Given the description of an element on the screen output the (x, y) to click on. 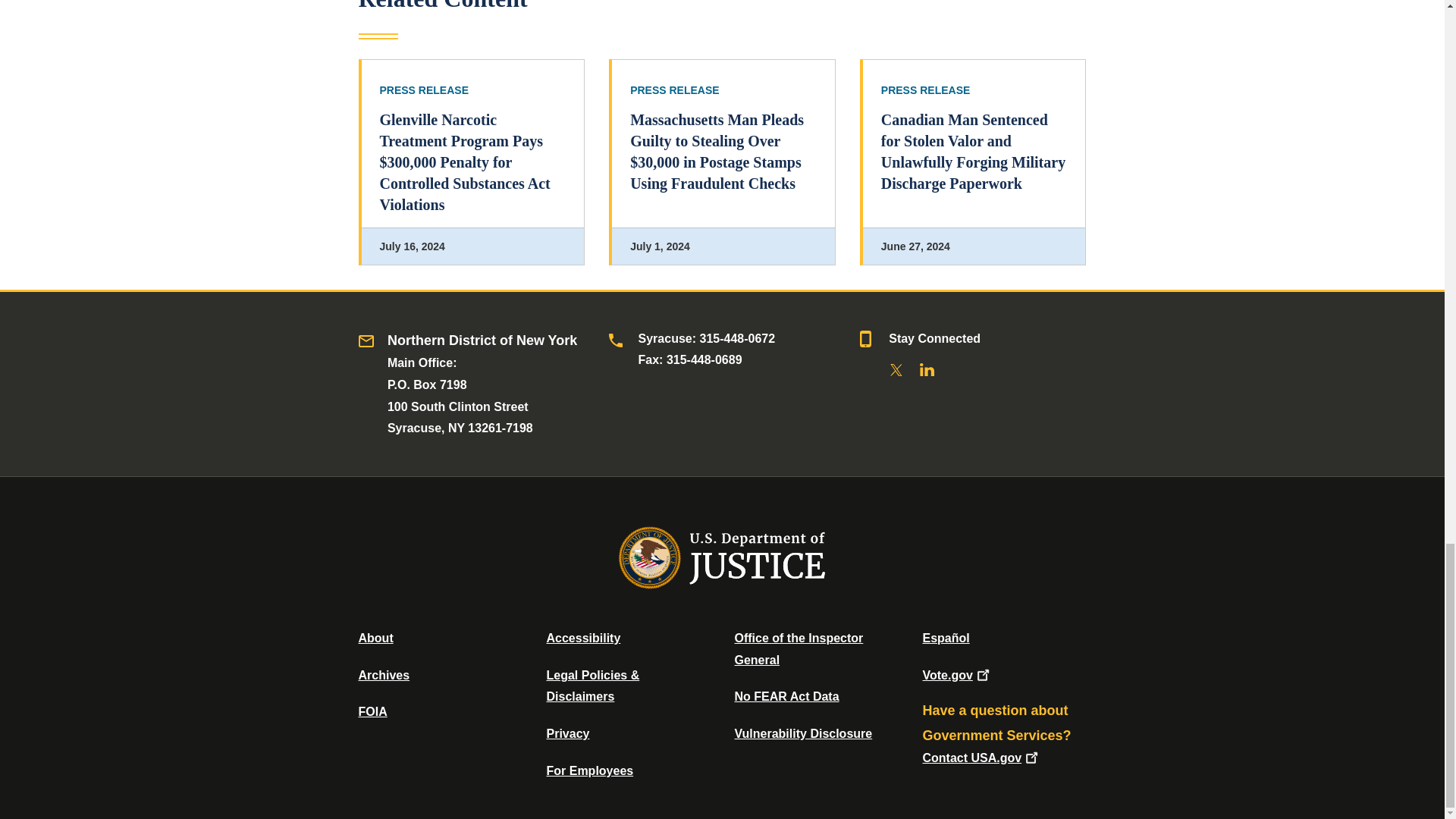
Accessibility Statement (583, 637)
Legal Policies and Disclaimers (592, 686)
Office of Information Policy (372, 711)
For Employees (589, 770)
About DOJ (375, 637)
Data Posted Pursuant To The No Fear Act (785, 696)
Department of Justice Archive (383, 675)
